Given the description of an element on the screen output the (x, y) to click on. 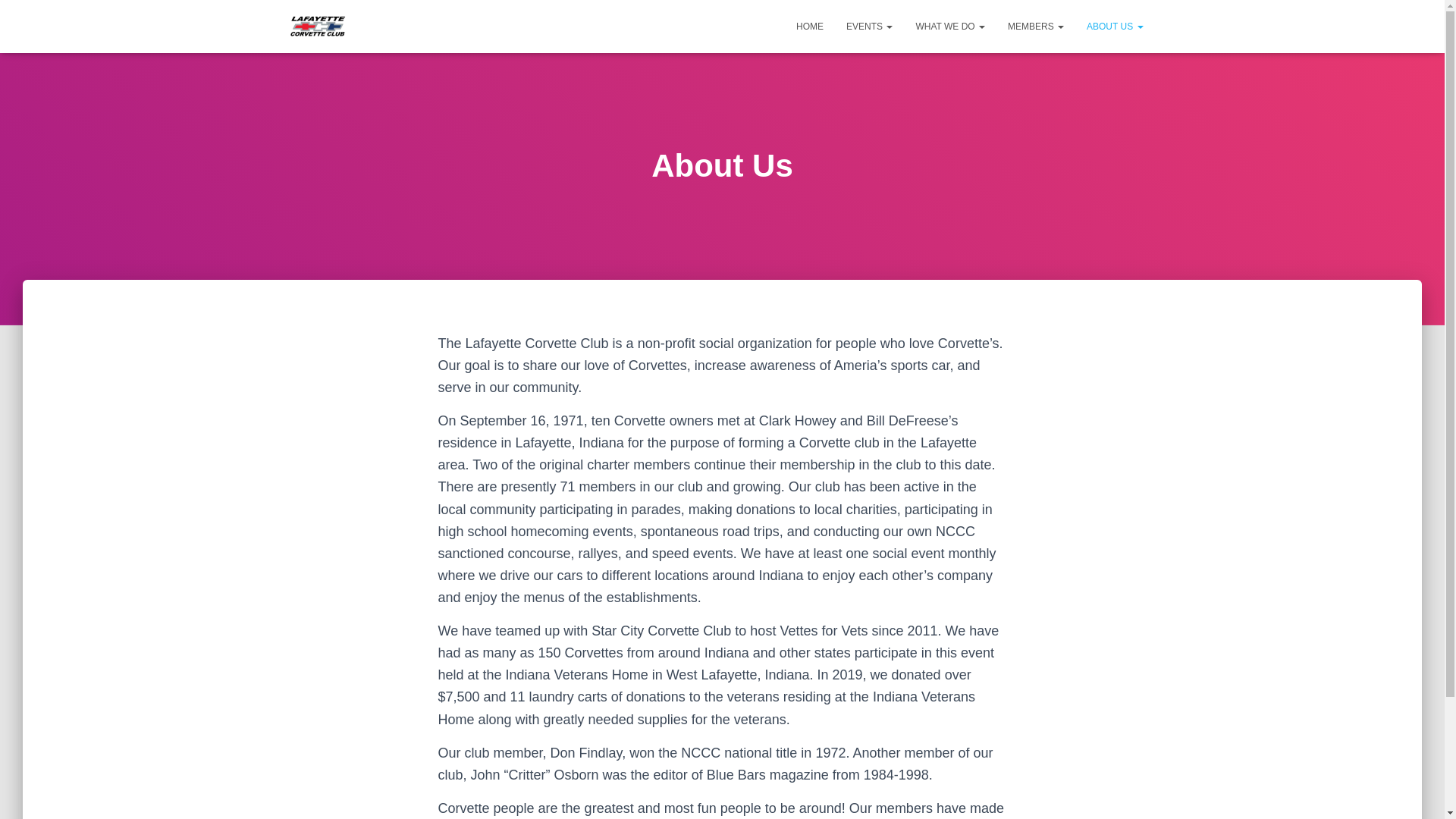
EVENTS (869, 26)
About Us (1114, 26)
What We Do (949, 26)
HOME (809, 26)
ABOUT US (1114, 26)
Lafayette Corvette Club (318, 26)
Members (1035, 26)
Home (809, 26)
Events (869, 26)
MEMBERS (1035, 26)
